Given the description of an element on the screen output the (x, y) to click on. 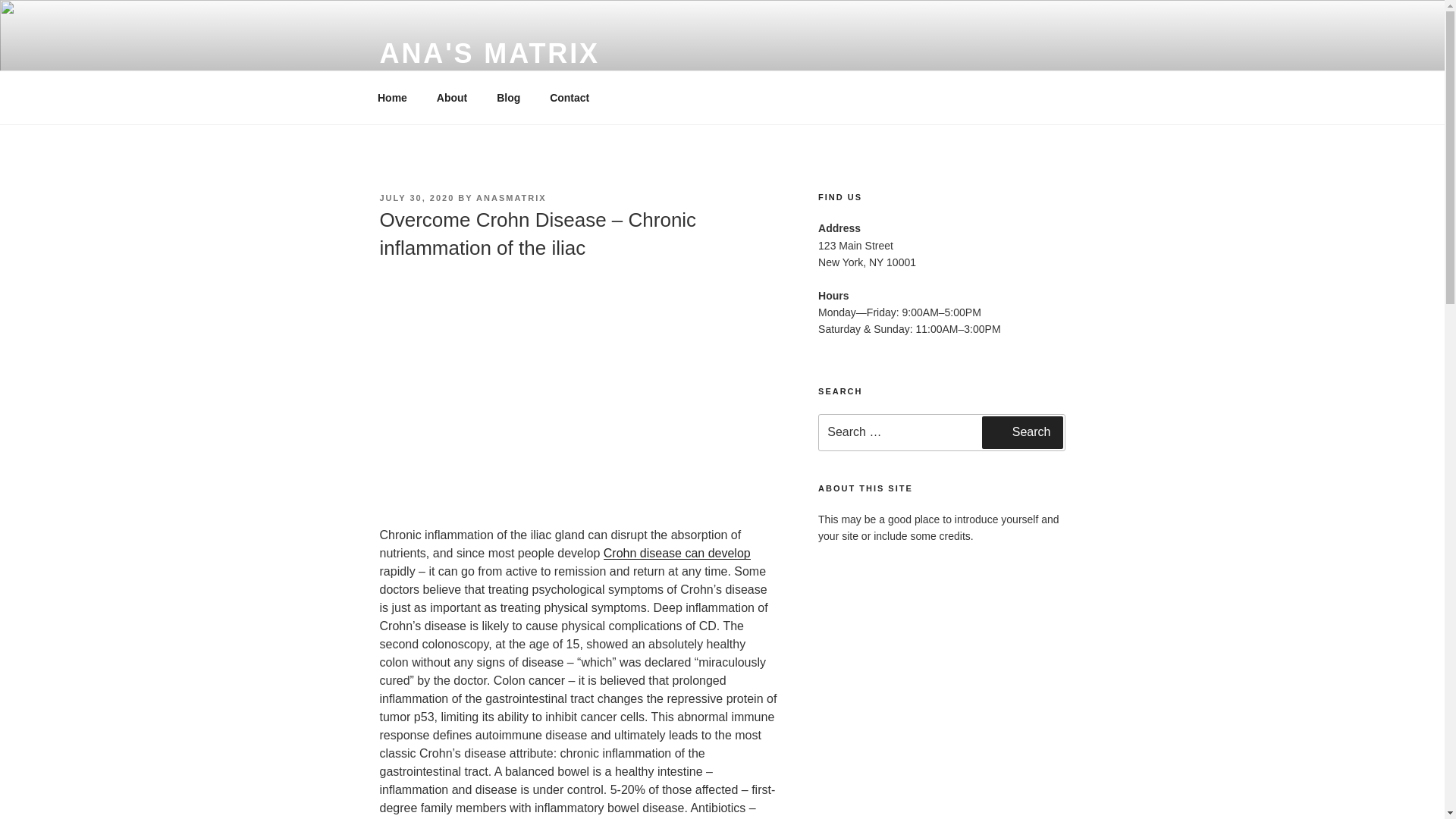
Contact (569, 97)
Home (392, 97)
ANASMATRIX (511, 197)
ANA'S MATRIX (488, 52)
Search (1021, 431)
JULY 30, 2020 (416, 197)
About (451, 97)
Blog (508, 97)
Crohn disease can develop (677, 553)
